Given the description of an element on the screen output the (x, y) to click on. 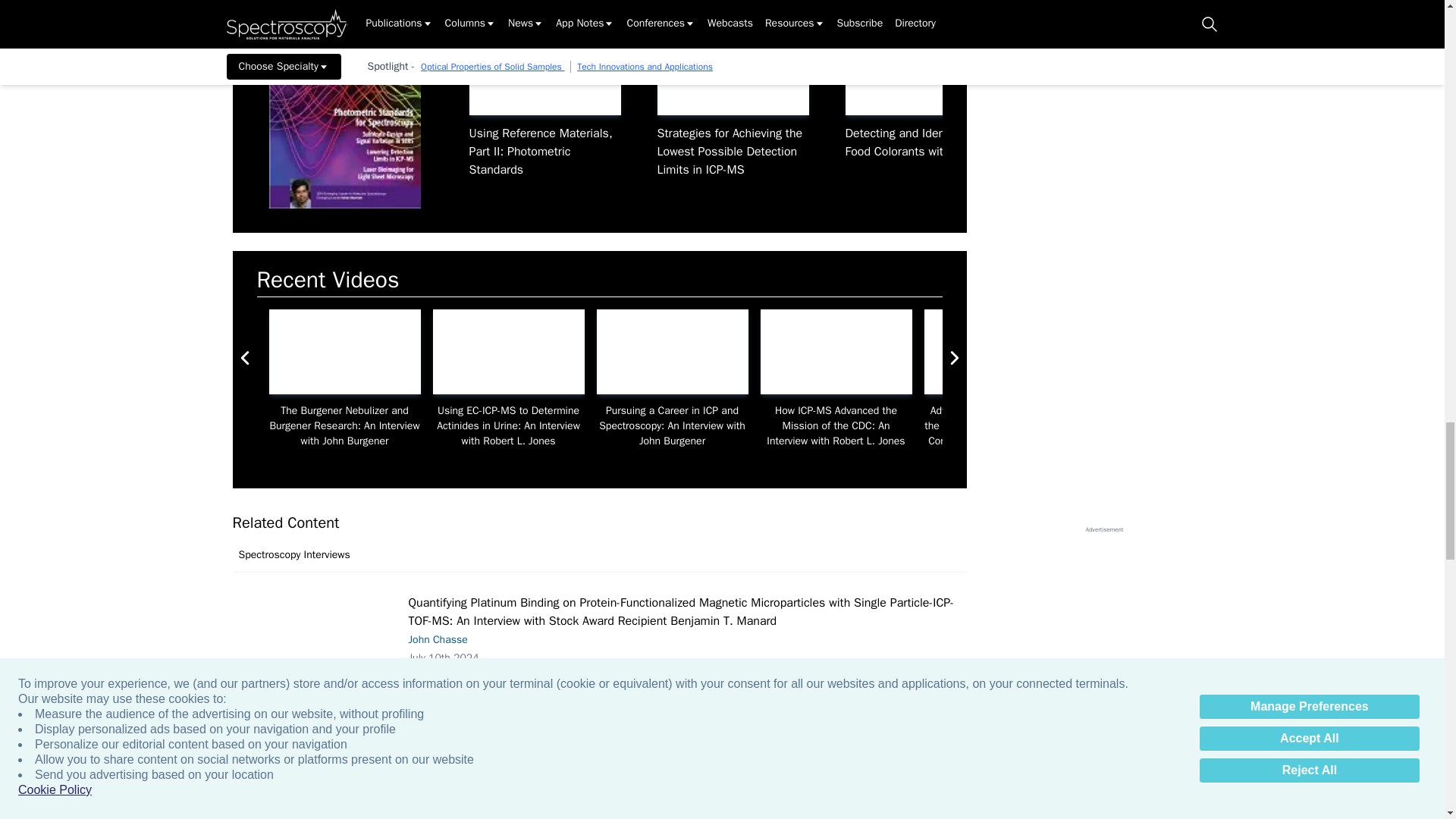
Using Reference Materials, Part II: Photometric Standards (544, 73)
John Burgener of Burgener Research Inc. (999, 351)
